Given the description of an element on the screen output the (x, y) to click on. 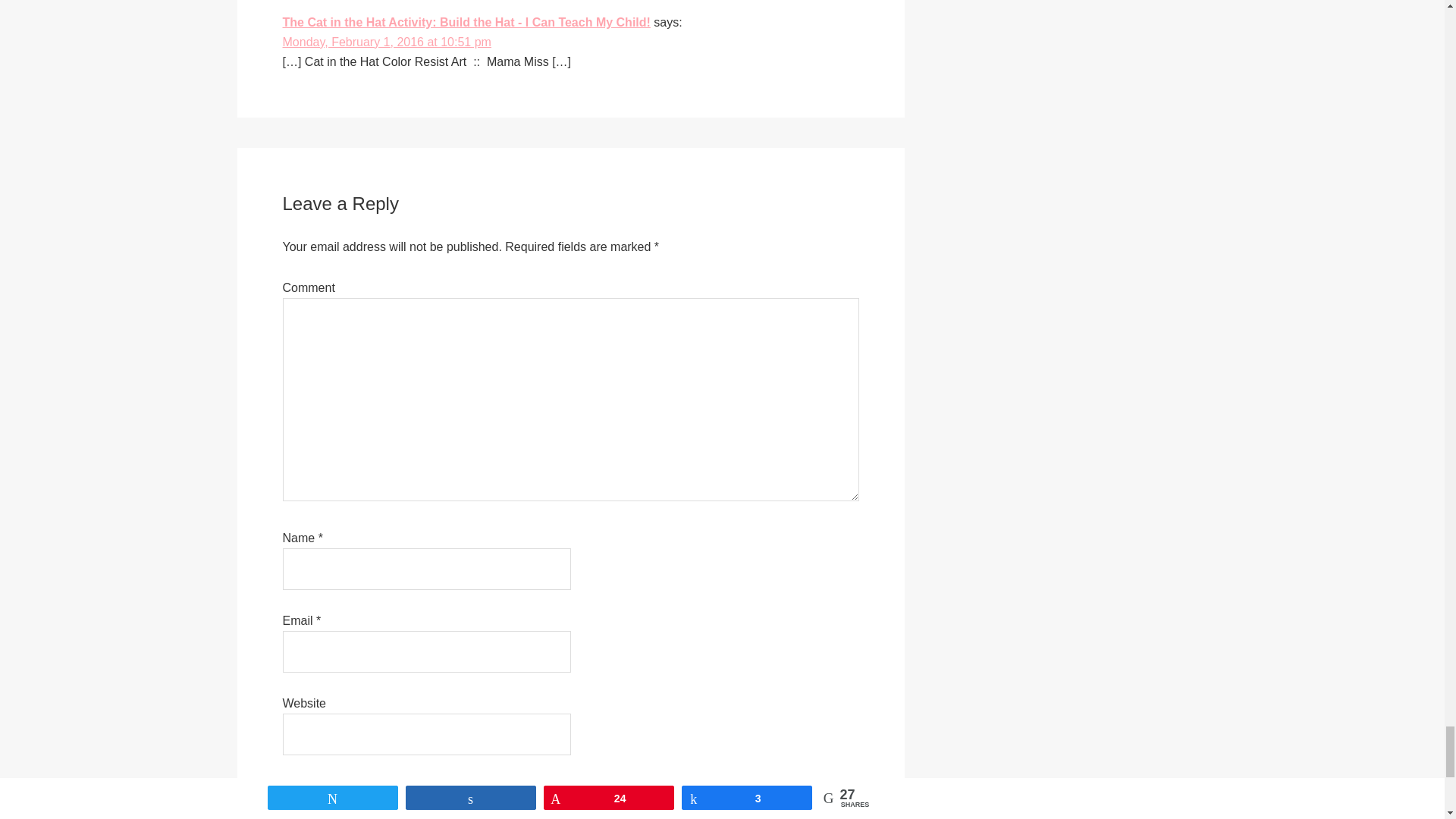
yes (287, 785)
